Given the description of an element on the screen output the (x, y) to click on. 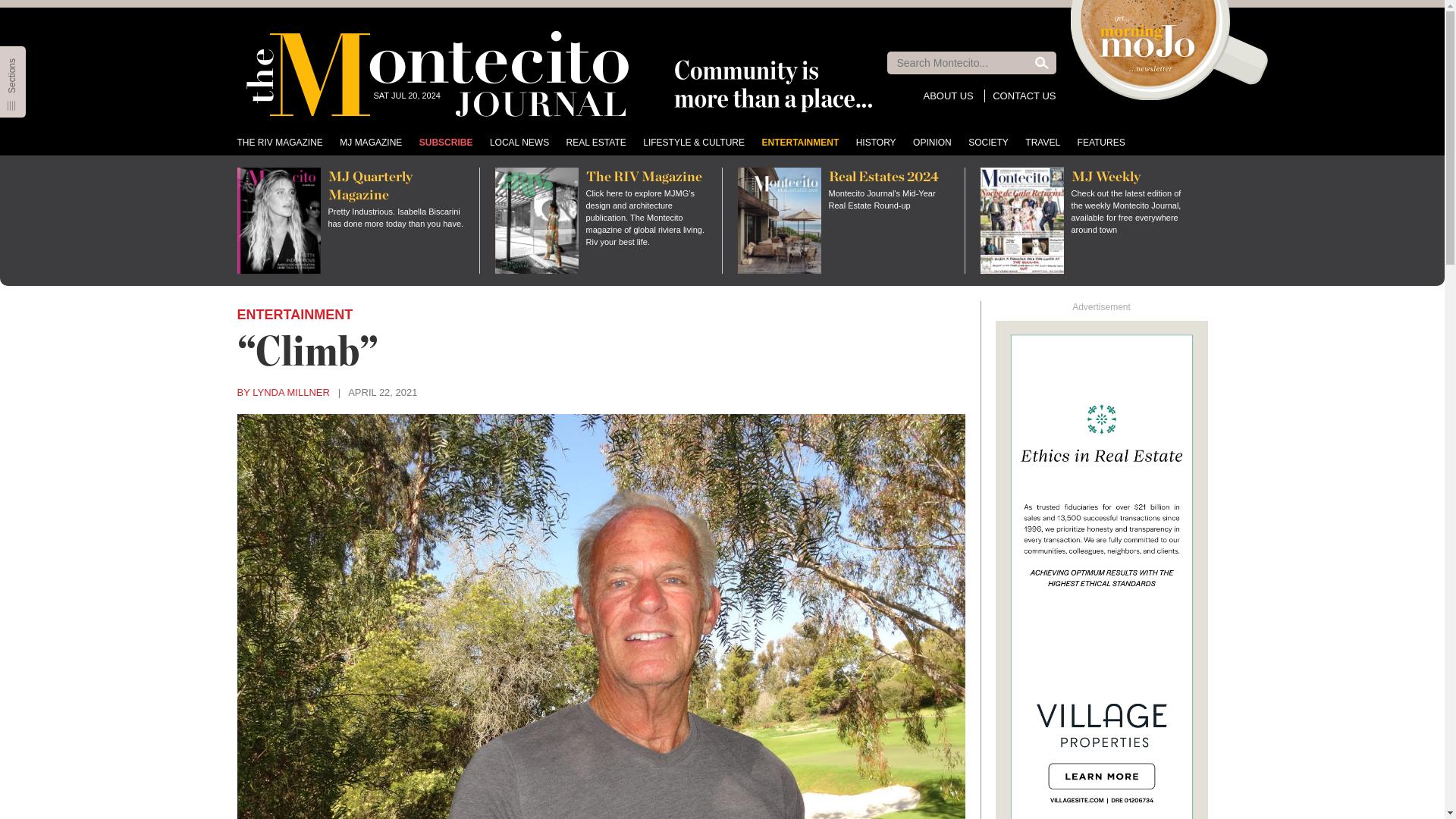
Lynda Millner (282, 392)
